Given the description of an element on the screen output the (x, y) to click on. 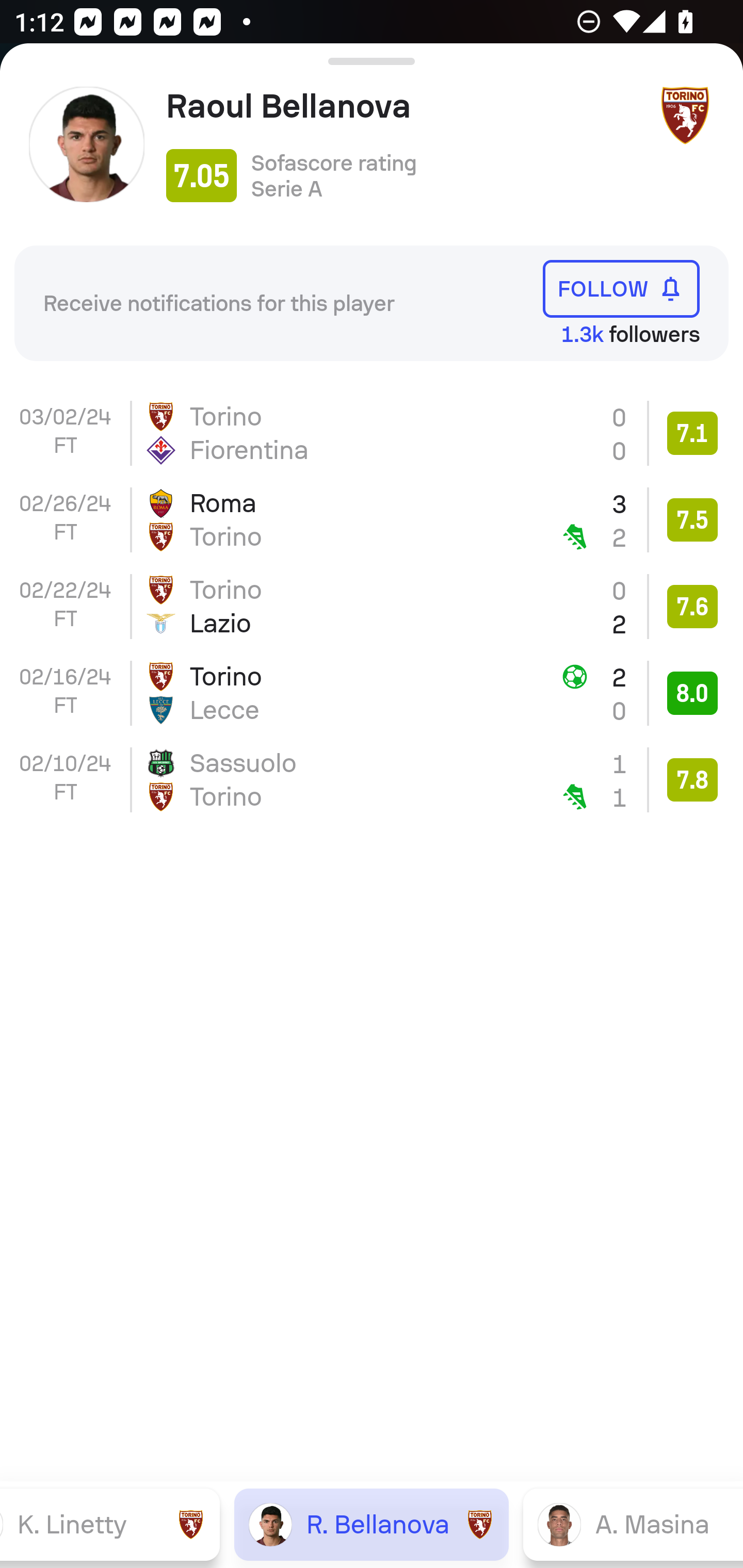
Raoul Bellanova (403, 105)
FOLLOW (621, 289)
03/02/24 FT Torino 0 Fiorentina 0 7.1 (371, 433)
02/26/24 FT Roma 3 Torino 2 7.5 (371, 519)
02/22/24 FT Torino 0 Lazio 2 7.6 (371, 605)
02/16/24 FT Torino 2 Lecce 0 8.0 (371, 692)
02/10/24 FT Sassuolo 1 Torino 1 7.8 (371, 779)
K. Linetty (109, 1524)
R. Bellanova (371, 1524)
A. Masina (633, 1524)
